Given the description of an element on the screen output the (x, y) to click on. 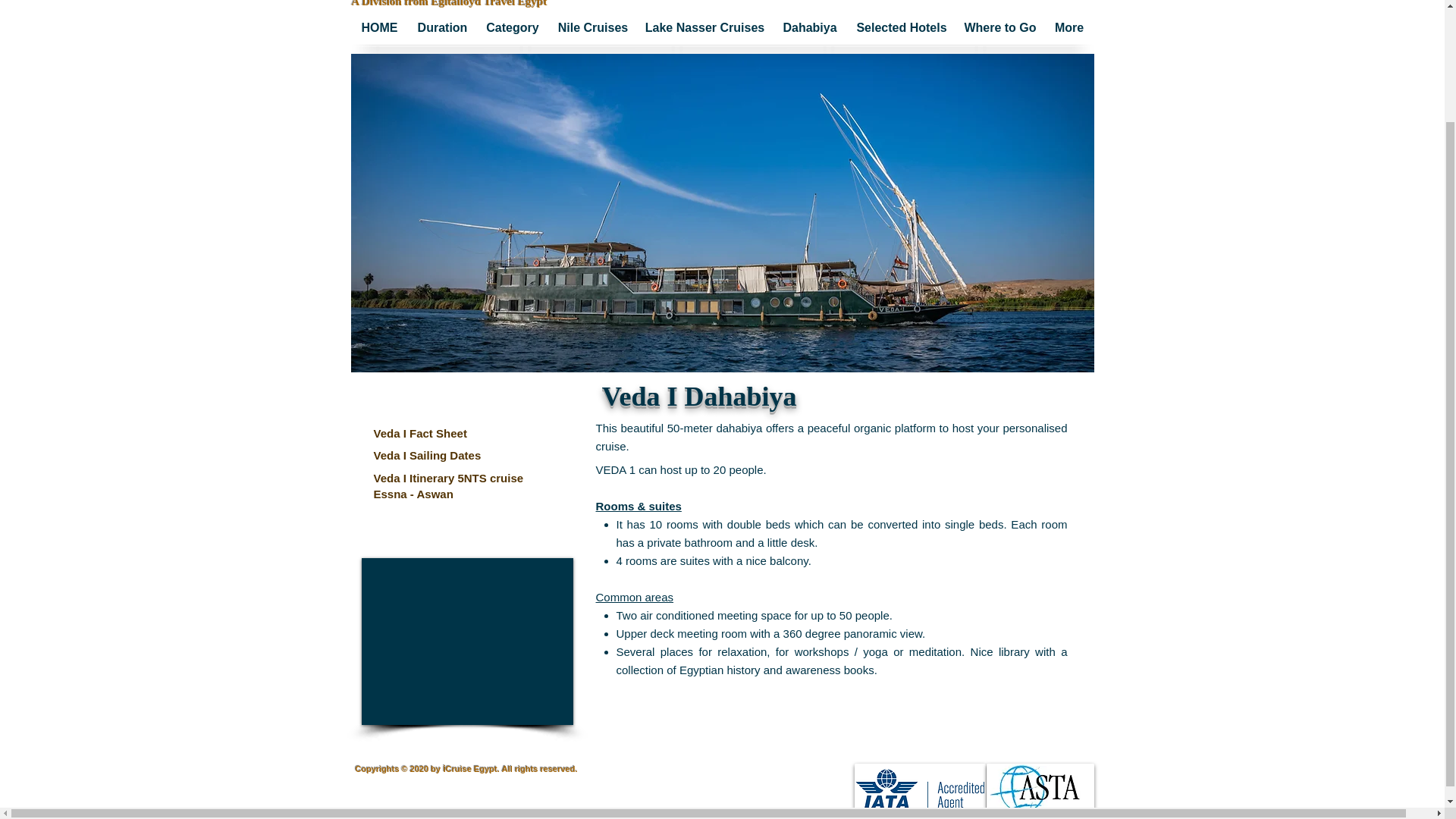
Category (512, 27)
Dahabiya (809, 27)
Lake Nasser Cruises (704, 27)
Duration (441, 27)
A Division from Egitalloyd Travel Egypt (449, 3)
External Facebook (466, 640)
Untitled-2.gif (470, 4)
Nile Cruises (592, 27)
HOME (378, 27)
